Given the description of an element on the screen output the (x, y) to click on. 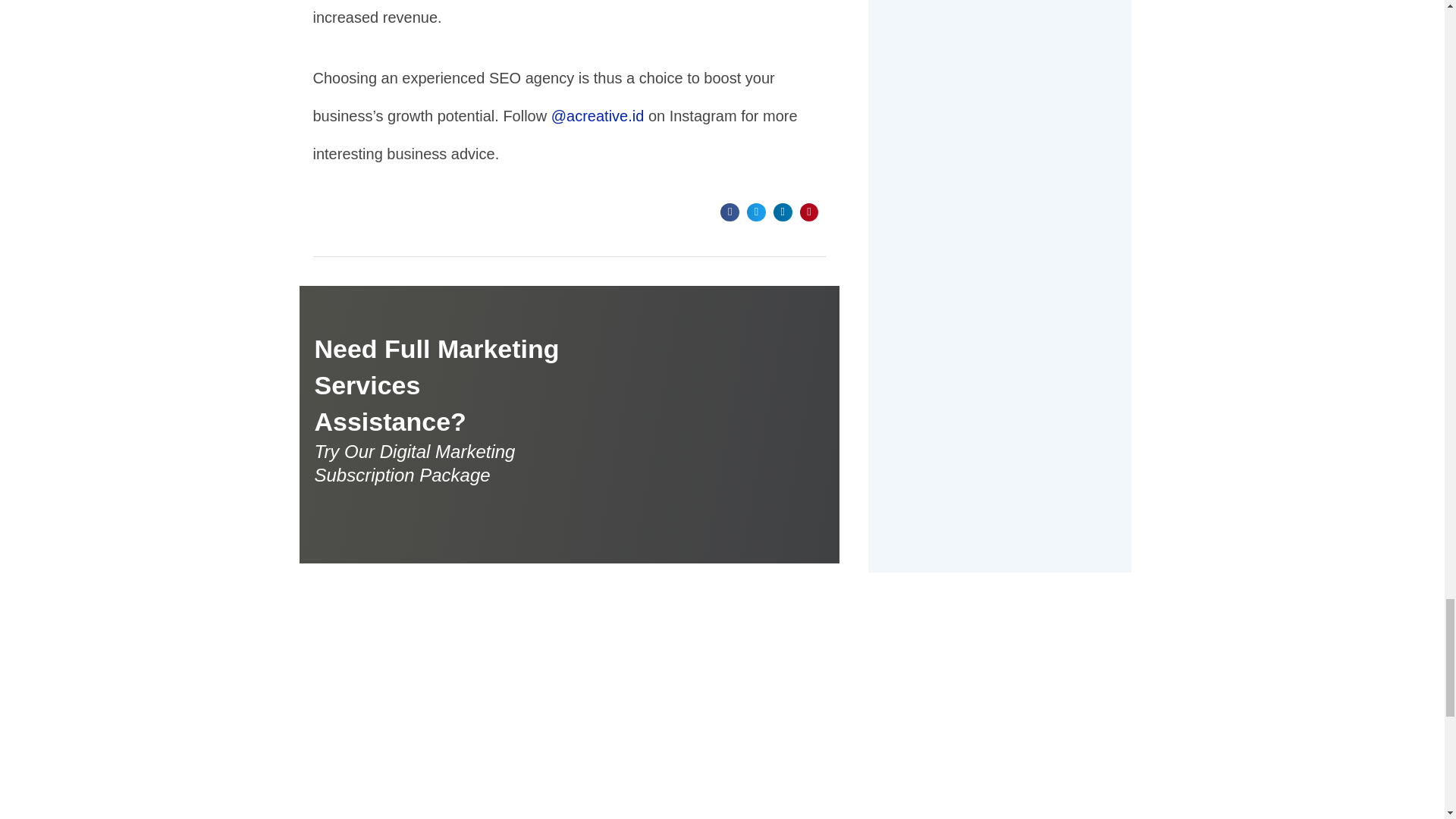
Need Full Marketing Services Assistance? (437, 385)
Try Our Digital Marketing Subscription Package (437, 462)
